Given the description of an element on the screen output the (x, y) to click on. 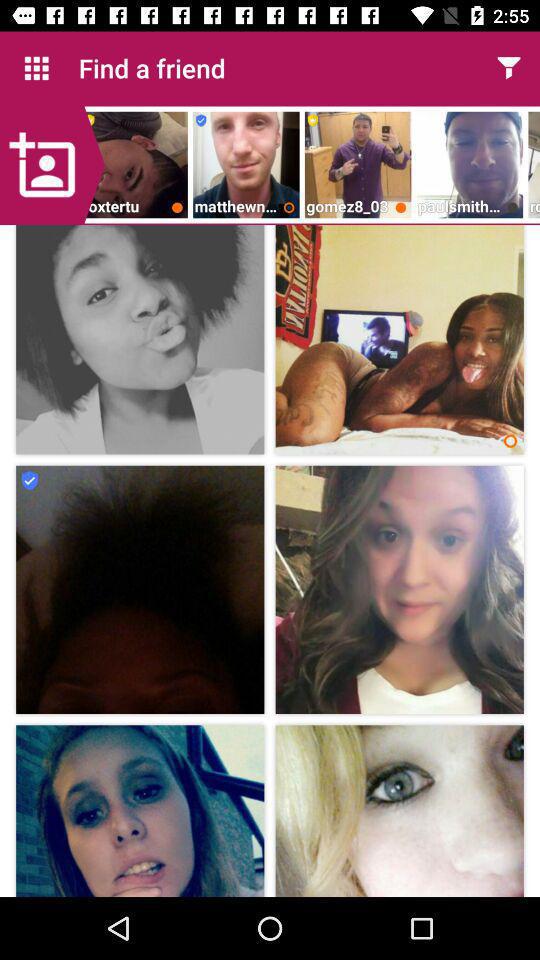
filter content (508, 67)
